Given the description of an element on the screen output the (x, y) to click on. 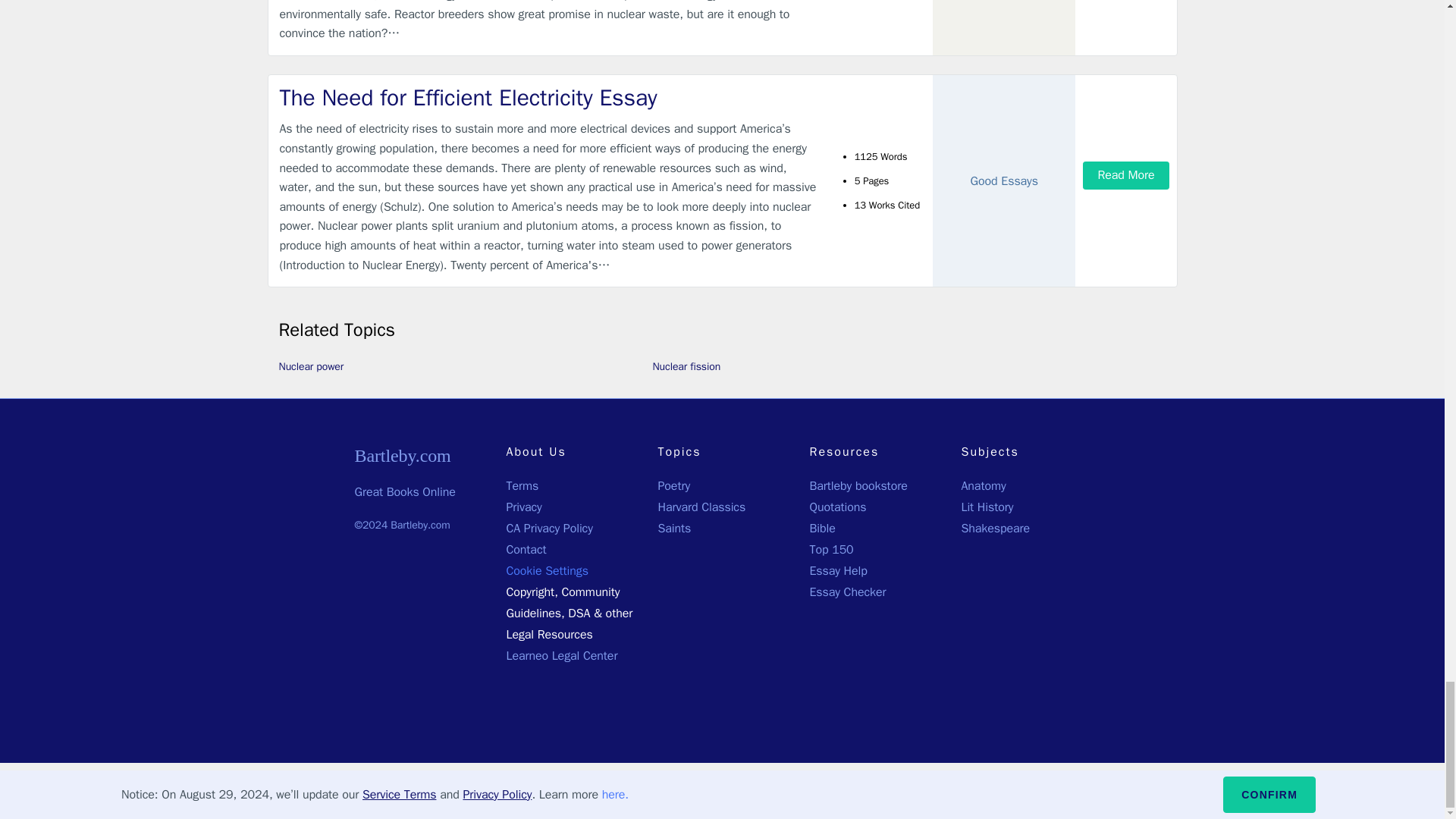
Nuclear power (311, 366)
Nuclear fission (686, 366)
